Given the description of an element on the screen output the (x, y) to click on. 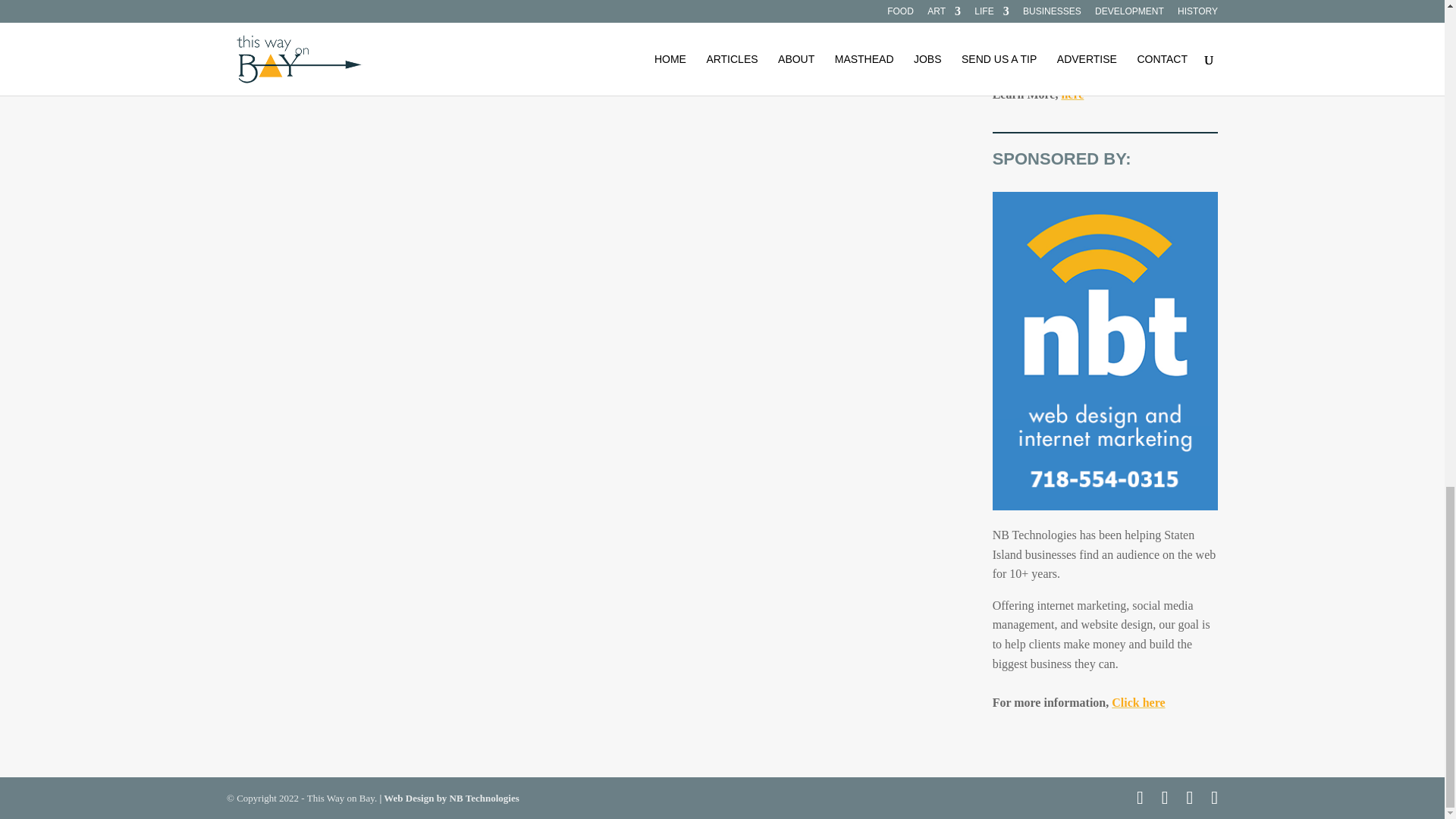
nbt-sidebar (1104, 350)
